Given the description of an element on the screen output the (x, y) to click on. 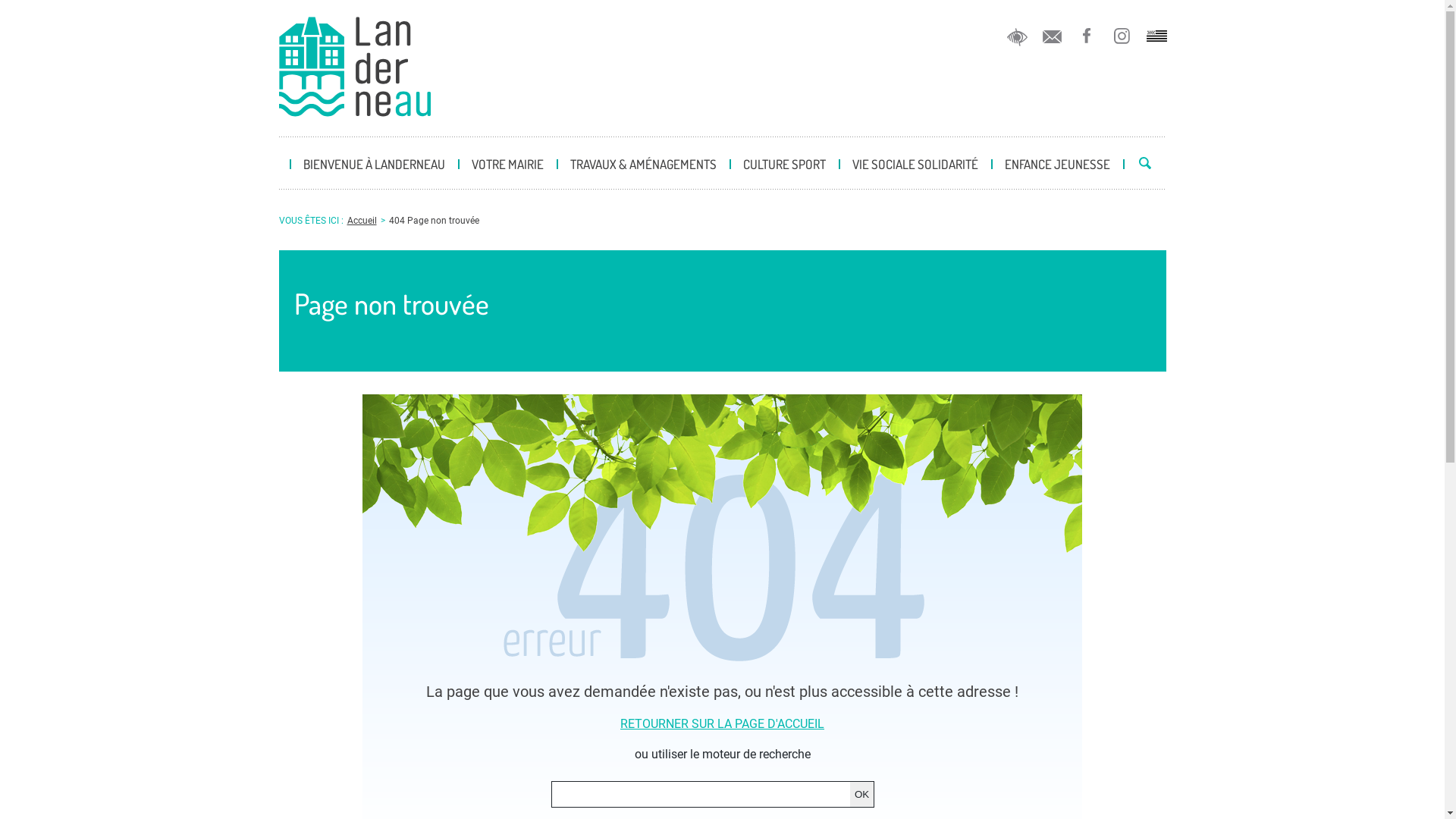
Contact Element type: hover (1051, 35)
Instagram Element type: hover (1121, 35)
VILLE DE LANDERNEAU Element type: text (354, 68)
Facebook Element type: hover (1086, 35)
RETOURNER SUR LA PAGE D'ACCUEIL Element type: text (722, 723)
OK Element type: text (862, 794)
Traduction Element type: hover (1156, 35)
Accueil Element type: text (361, 220)
Rechercher dans le site Element type: hover (1145, 164)
